Given the description of an element on the screen output the (x, y) to click on. 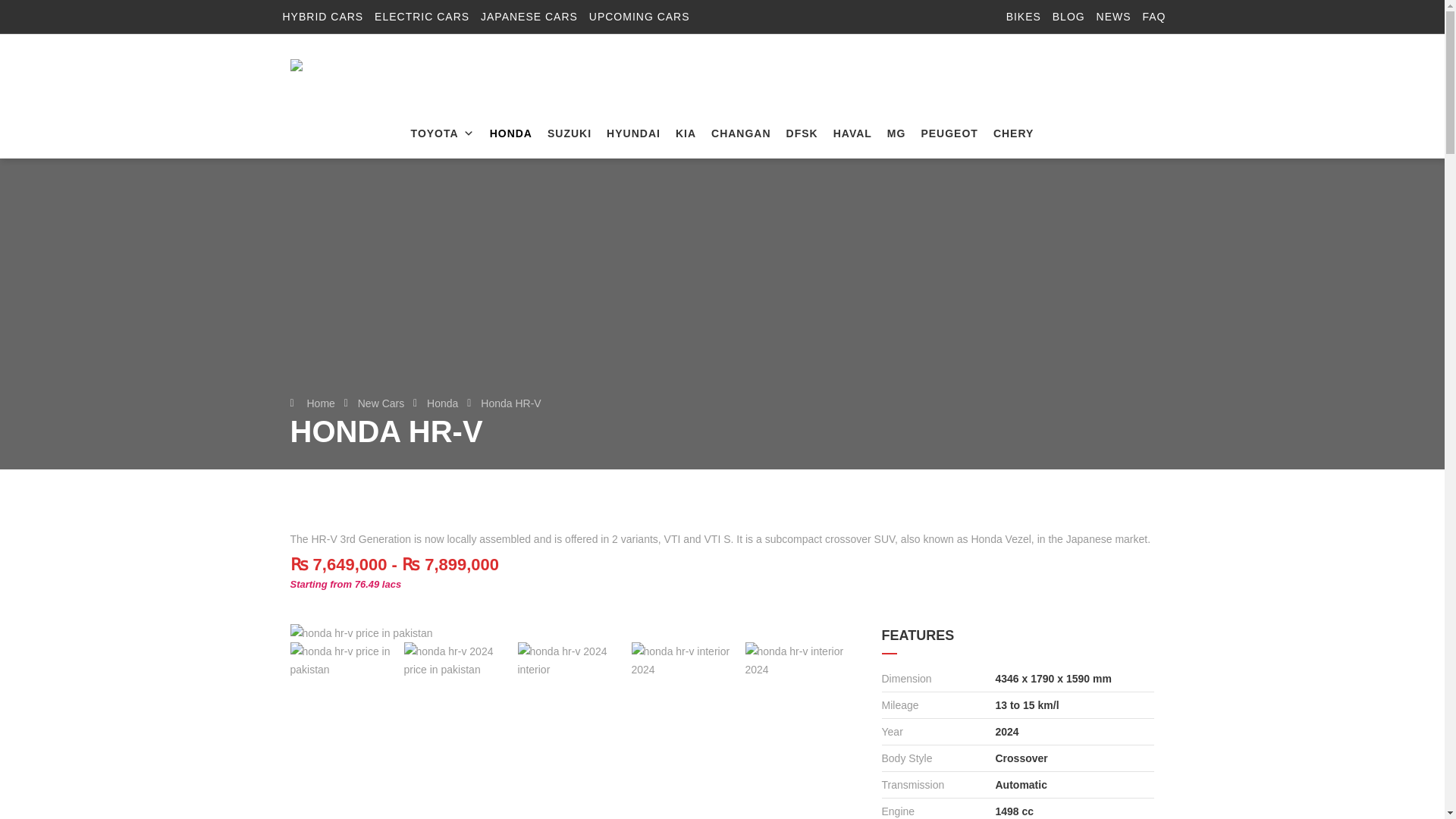
Home (319, 403)
HYBRID CARS (322, 16)
Go to New cars. (381, 403)
JAPANESE CARS (529, 16)
Go to Home. (319, 403)
CHERY (1013, 133)
TOYOTA (442, 133)
Go to the Honda Make archives. (442, 403)
UPCOMING CARS (639, 16)
HYUNDAI (633, 133)
FAQ (1153, 16)
BIKES (1023, 16)
PEUGEOT (948, 133)
BLOG (1068, 16)
HONDA (510, 133)
